Given the description of an element on the screen output the (x, y) to click on. 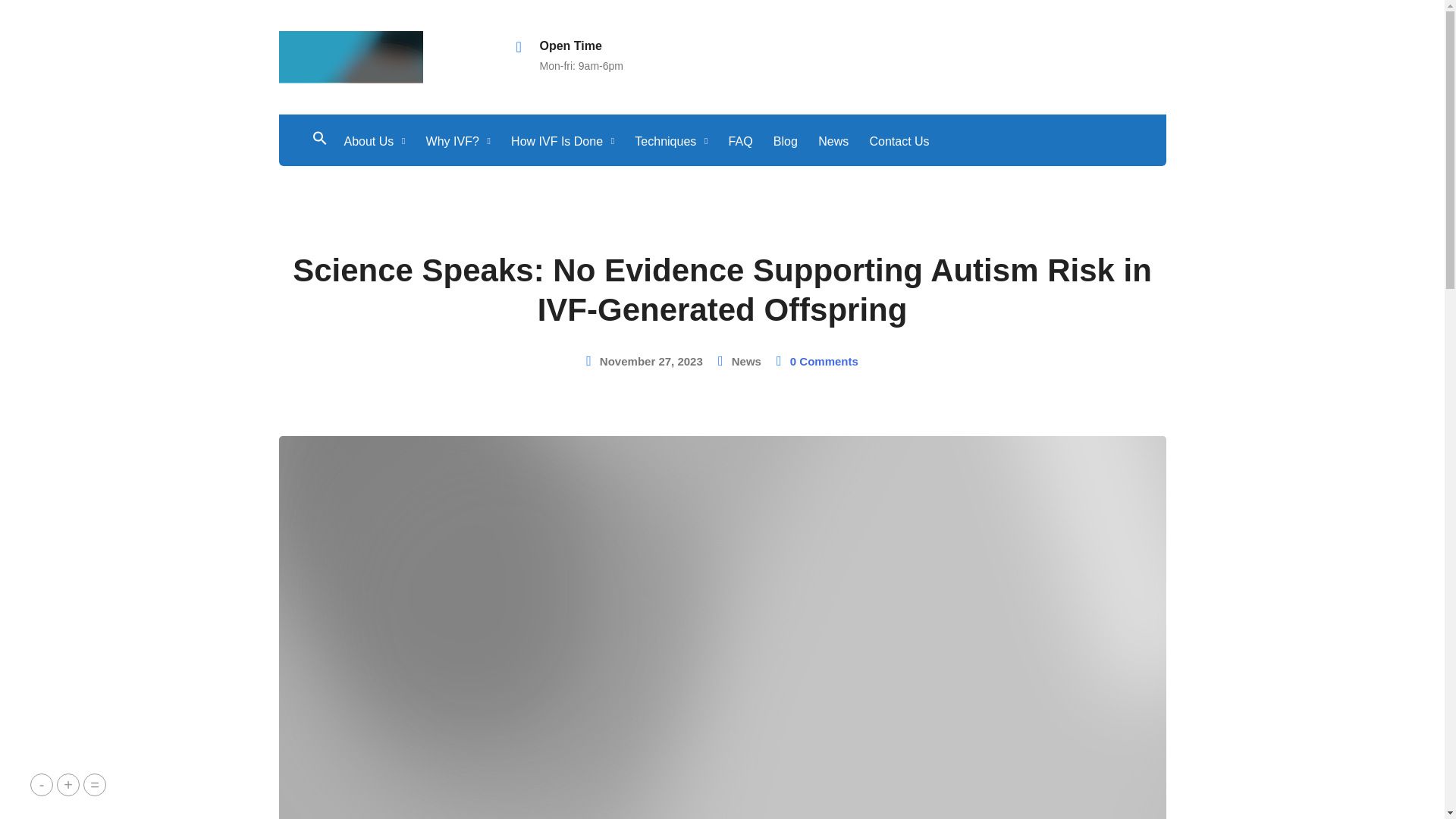
0 Comments (824, 360)
About Us (372, 141)
Increase text size (68, 784)
Why IVF? (455, 141)
Reset text size (94, 784)
How IVF Is Done (560, 141)
Decrease text size (41, 784)
